Given the description of an element on the screen output the (x, y) to click on. 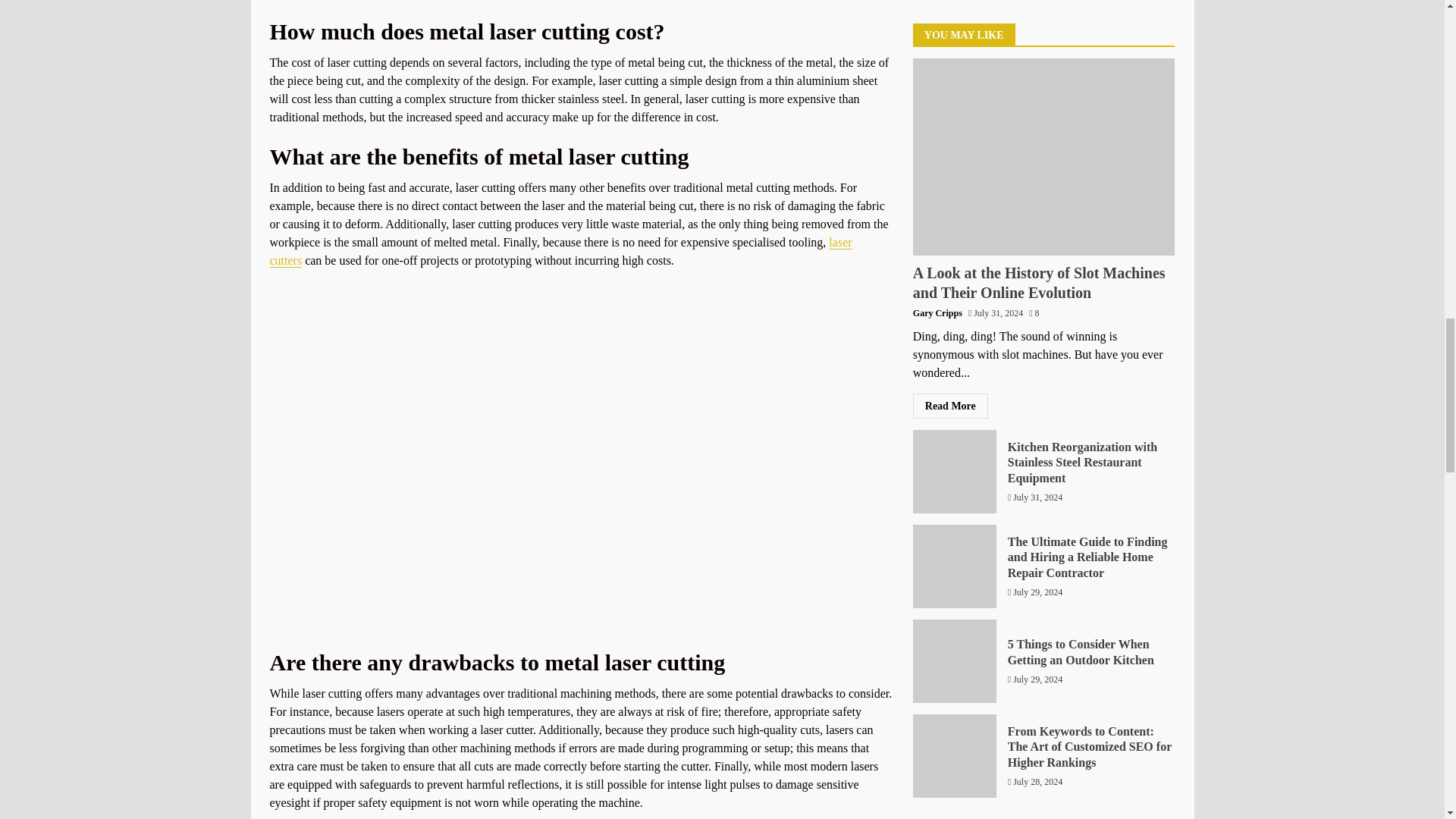
laser cutters (560, 251)
